Given the description of an element on the screen output the (x, y) to click on. 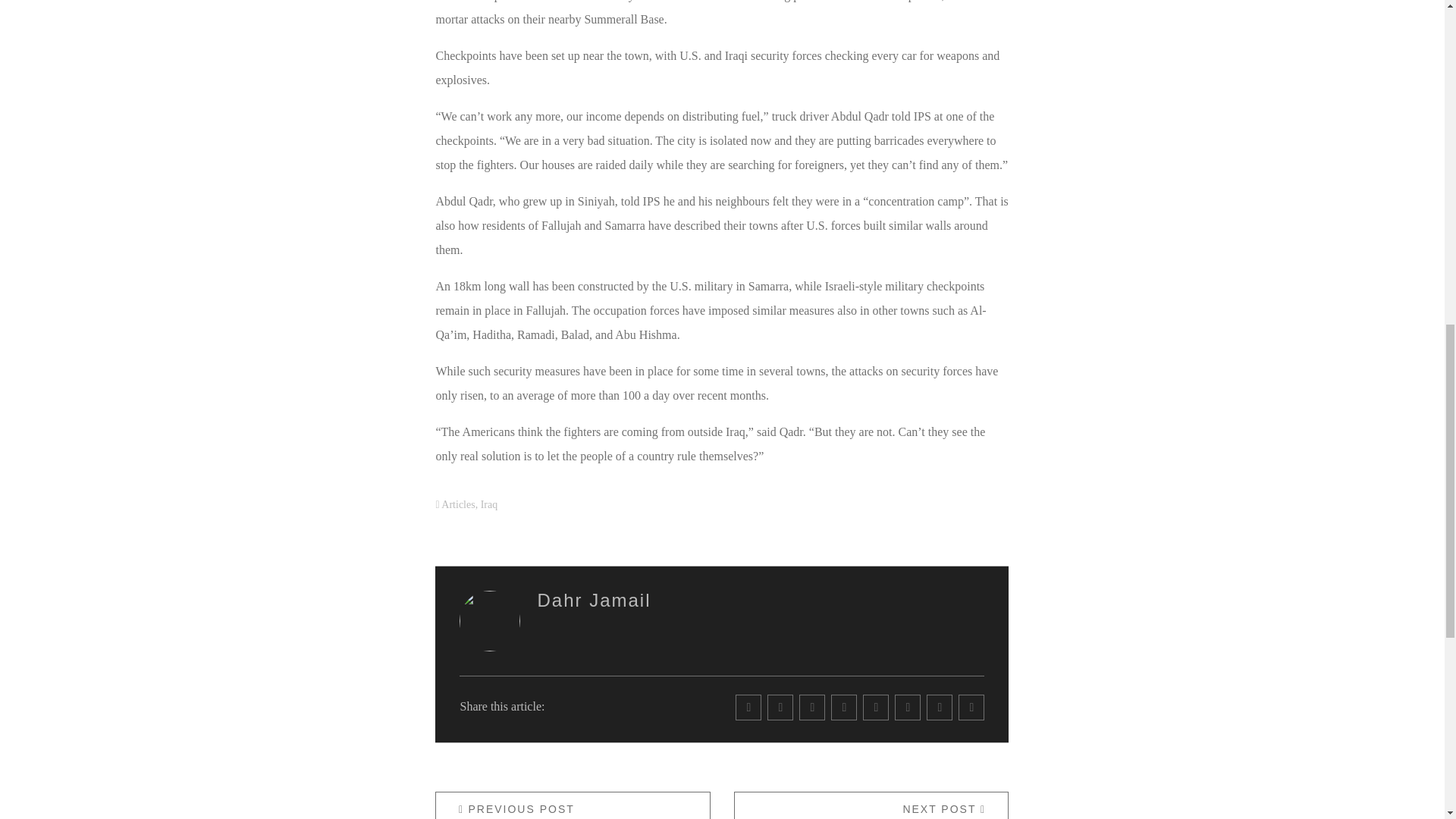
Dahr Jamail (593, 599)
Articles (871, 805)
Posts by Dahr Jamail (457, 504)
Iraq (593, 599)
